Given the description of an element on the screen output the (x, y) to click on. 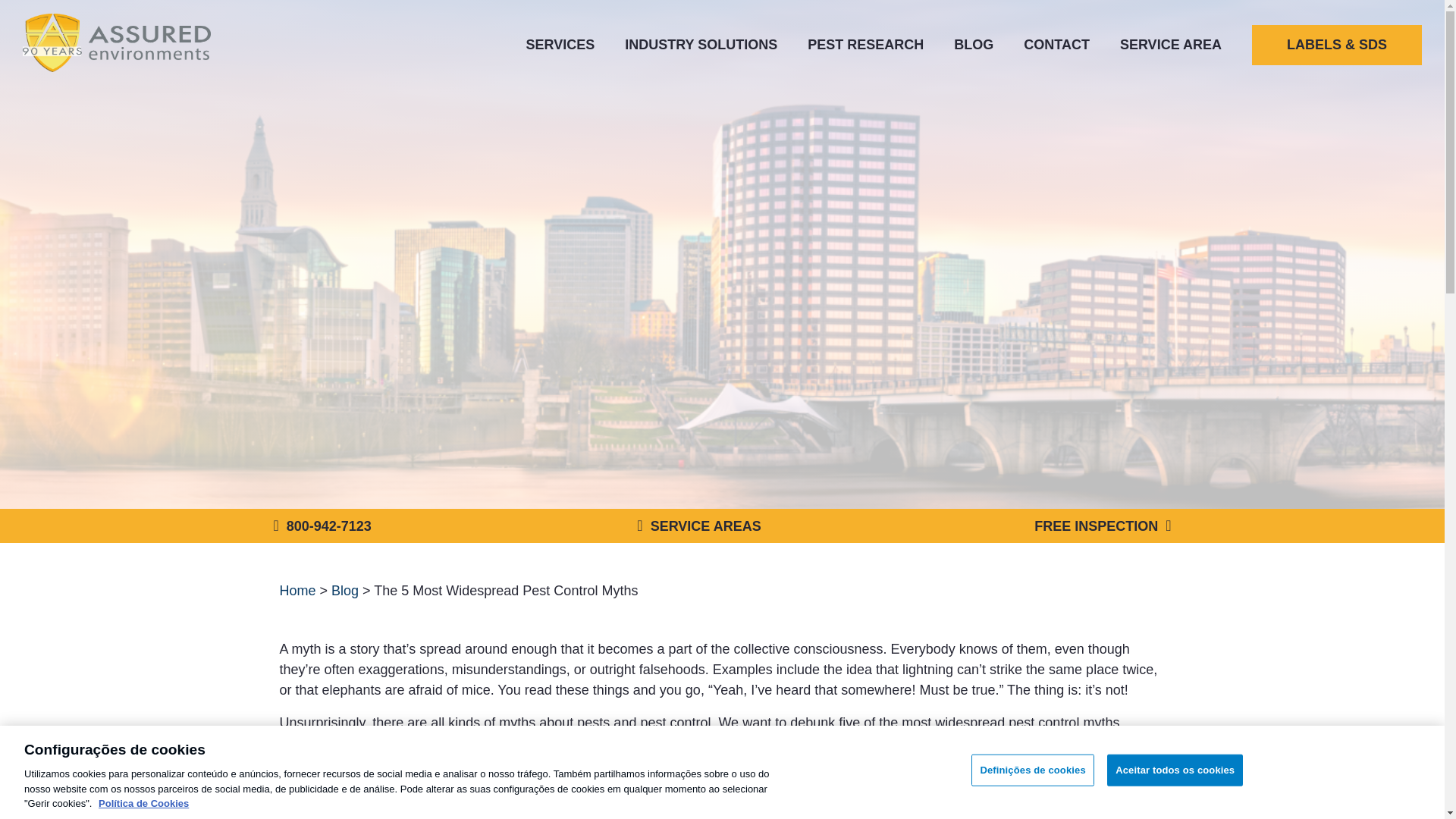
SERVICES (560, 44)
BLOG (972, 44)
INDUSTRY SOLUTIONS (700, 44)
SERVICE AREA (1170, 44)
CONTACT (1056, 44)
PEST RESEARCH (865, 44)
